Given the description of an element on the screen output the (x, y) to click on. 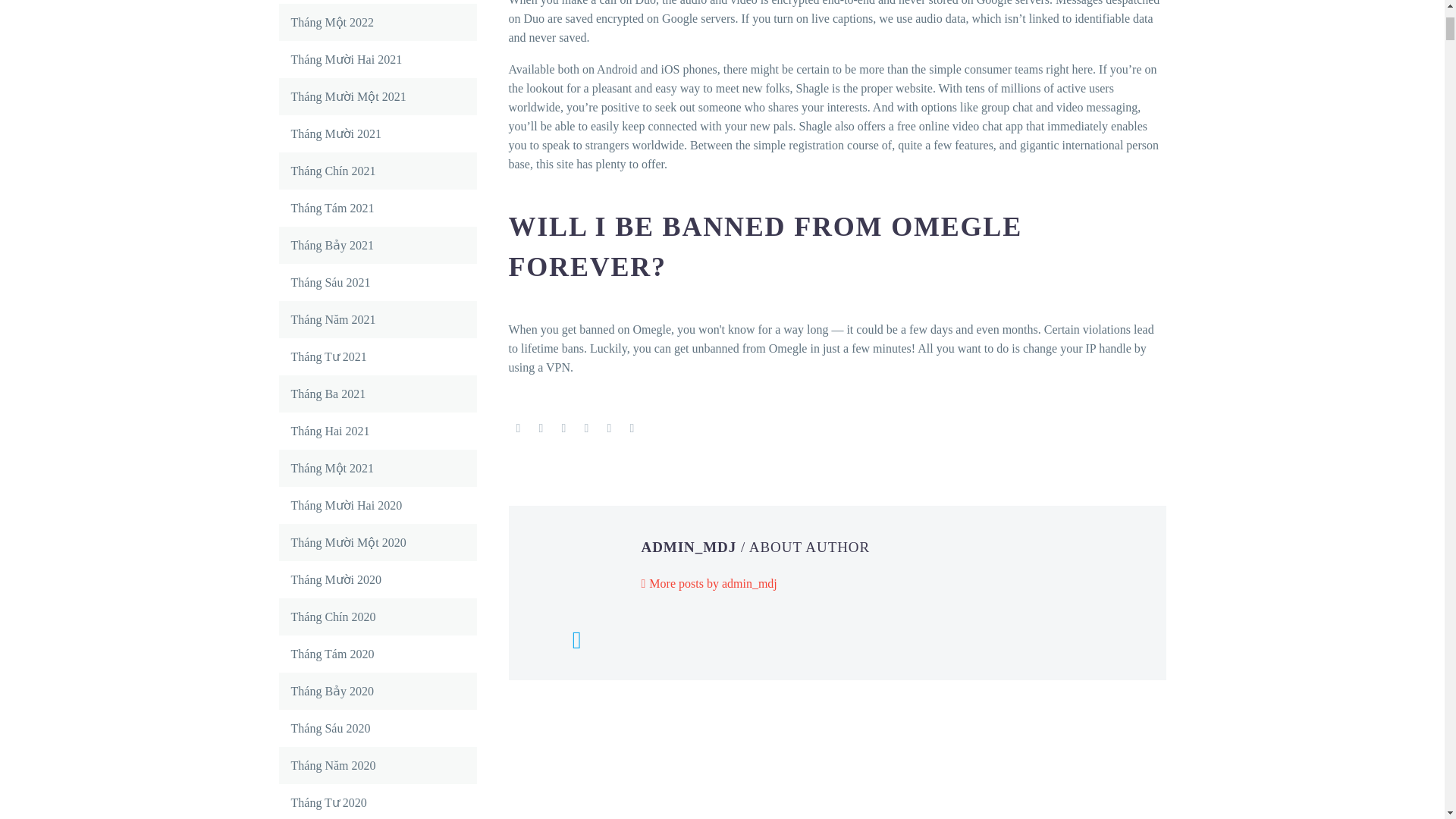
Twitter (541, 428)
Facebook (518, 428)
Pinterest (563, 428)
Reddit (632, 428)
LinkedIn (609, 428)
Tumblr (586, 428)
